Given the description of an element on the screen output the (x, y) to click on. 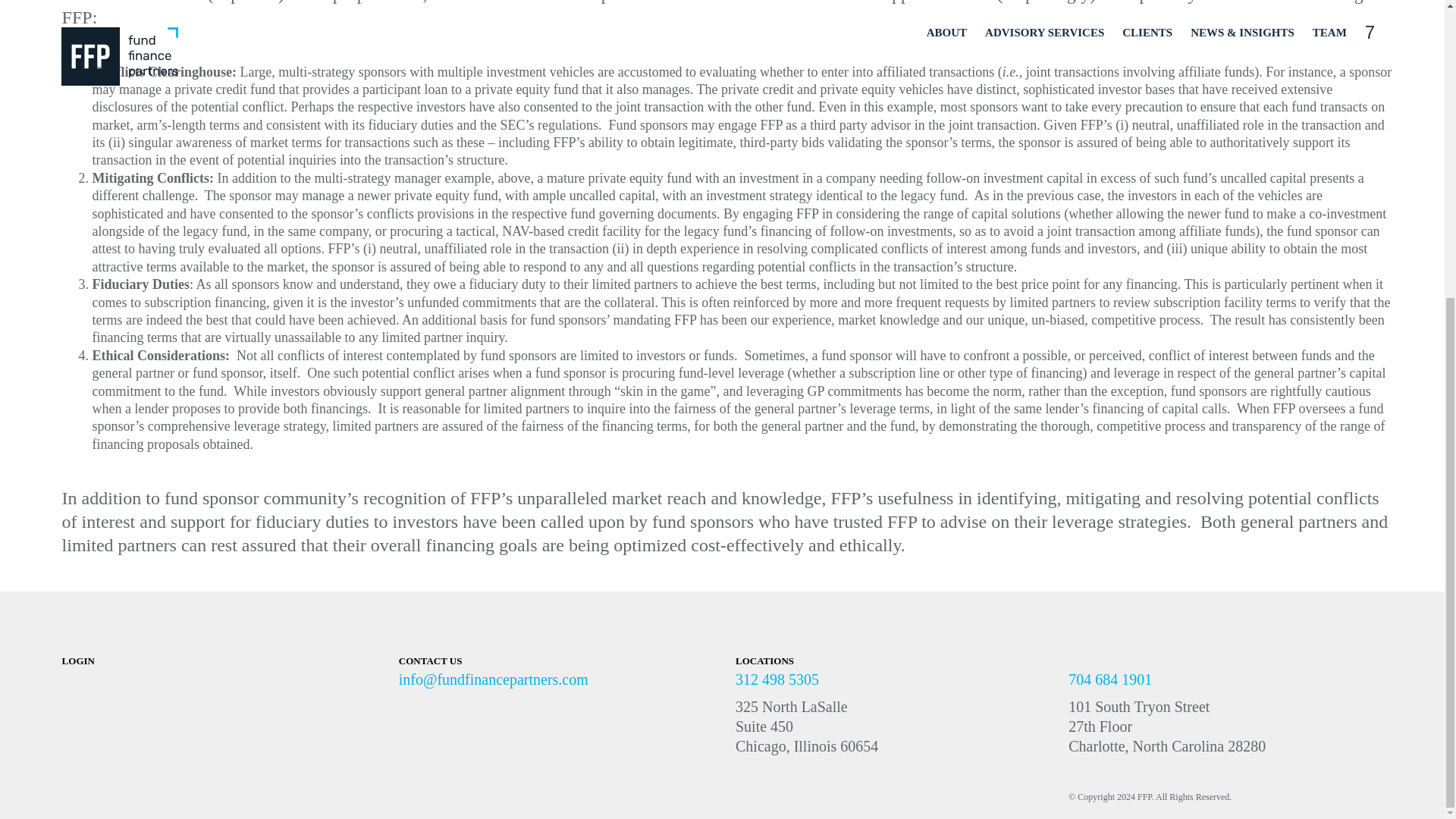
CONTACT US (430, 660)
704 684 1901 (1109, 678)
LOGIN (226, 661)
312 498 5305 (776, 678)
